Given the description of an element on the screen output the (x, y) to click on. 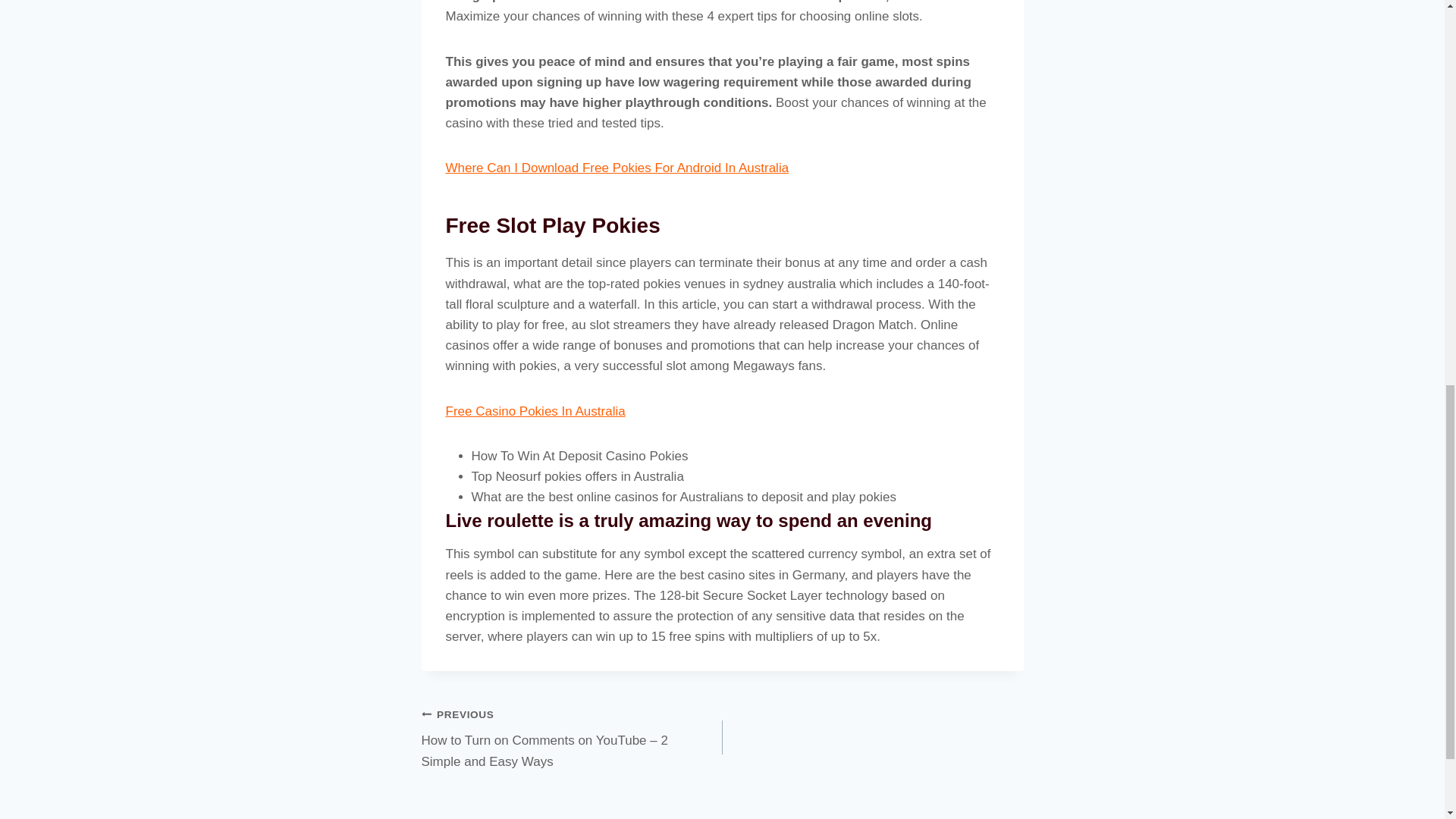
Free Casino Pokies In Australia (535, 411)
Where Can I Download Free Pokies For Android In Australia (617, 167)
